Given the description of an element on the screen output the (x, y) to click on. 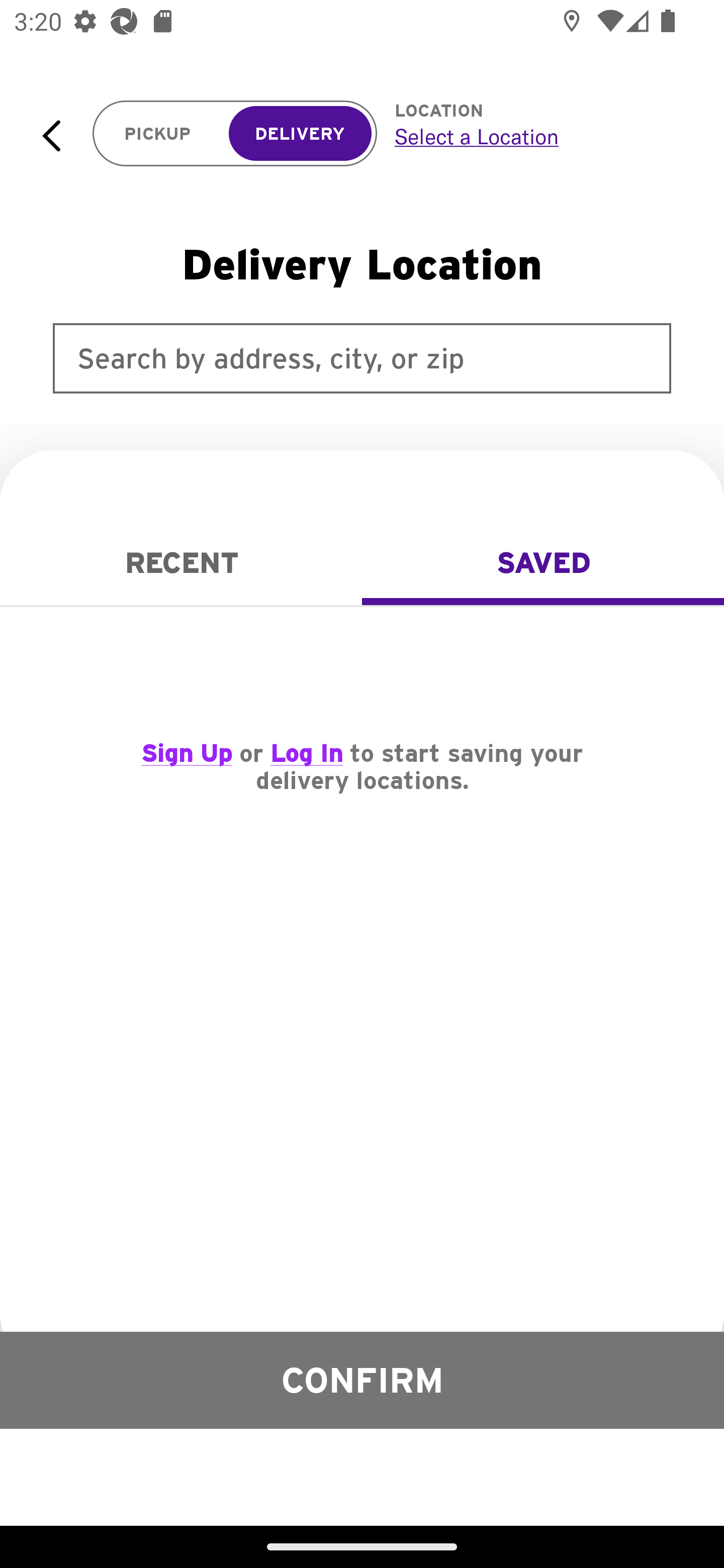
PICKUP (157, 133)
DELIVERY (299, 133)
Select a Location (536, 136)
Search by address, city, or zip (361, 358)
Recent RECENT (181, 562)
CONFIRM (362, 1379)
